Given the description of an element on the screen output the (x, y) to click on. 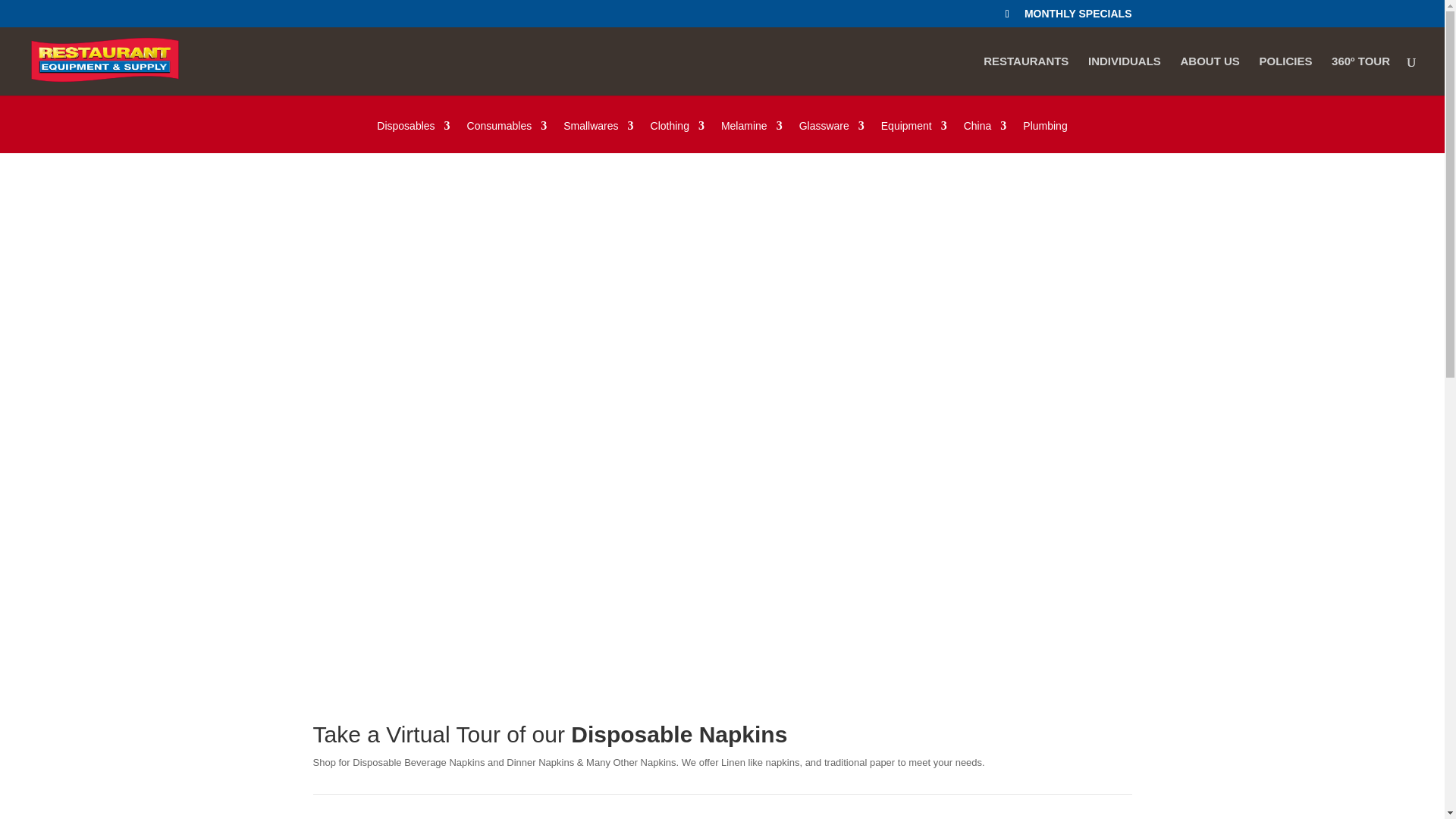
INDIVIDUALS (1123, 75)
Smallwares (598, 136)
ABOUT US (1209, 75)
Consumables (507, 136)
POLICIES (1285, 75)
MONTHLY SPECIALS (1078, 16)
Melamine (751, 136)
Glassware (831, 136)
Disposables (413, 136)
Clothing (677, 136)
RESTAURANTS (1026, 75)
